Given the description of an element on the screen output the (x, y) to click on. 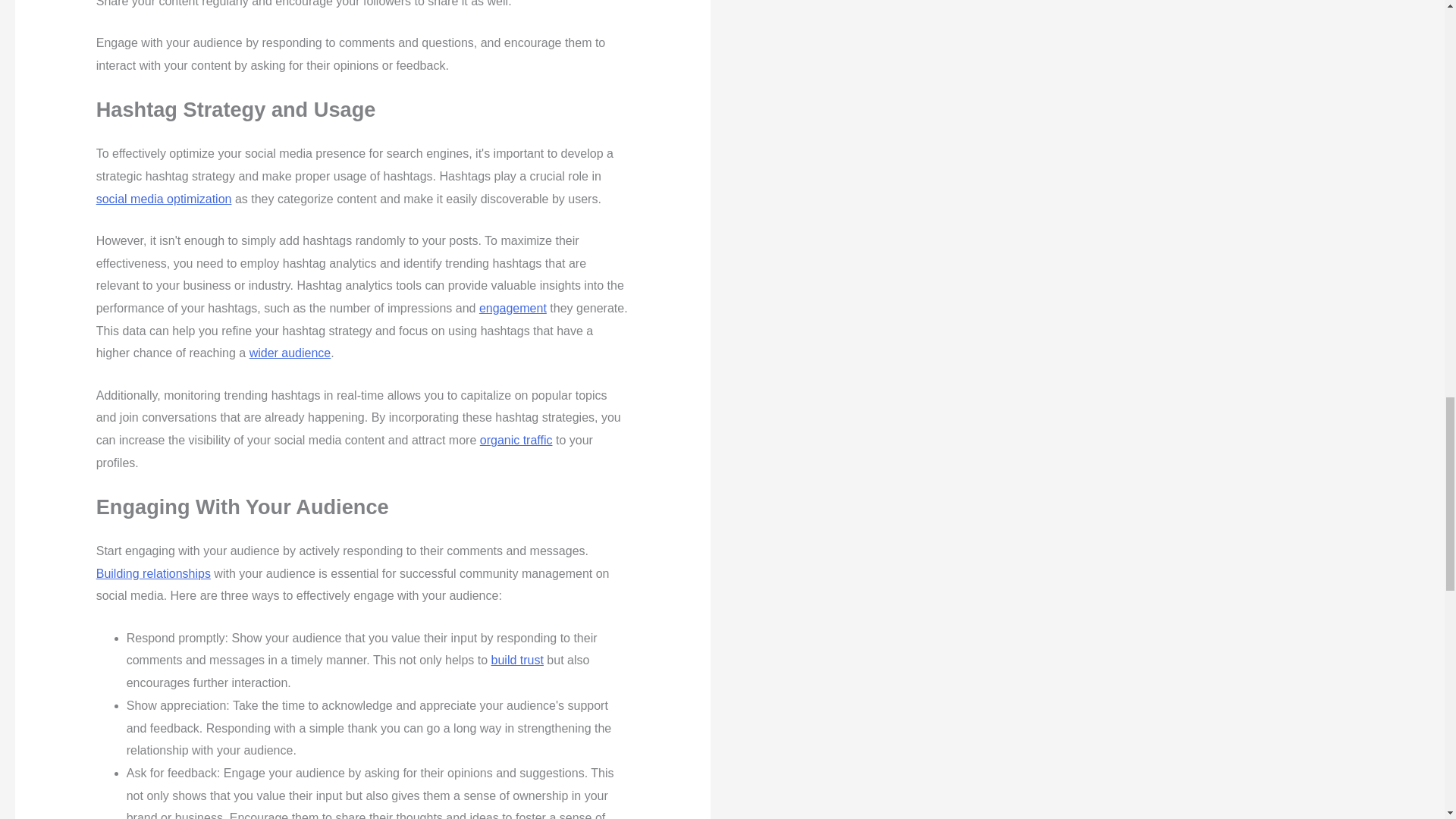
social media optimization (163, 198)
organic traffic (516, 440)
engagement (513, 308)
Building relationships (153, 573)
build trust (517, 659)
wider audience (289, 352)
